Given the description of an element on the screen output the (x, y) to click on. 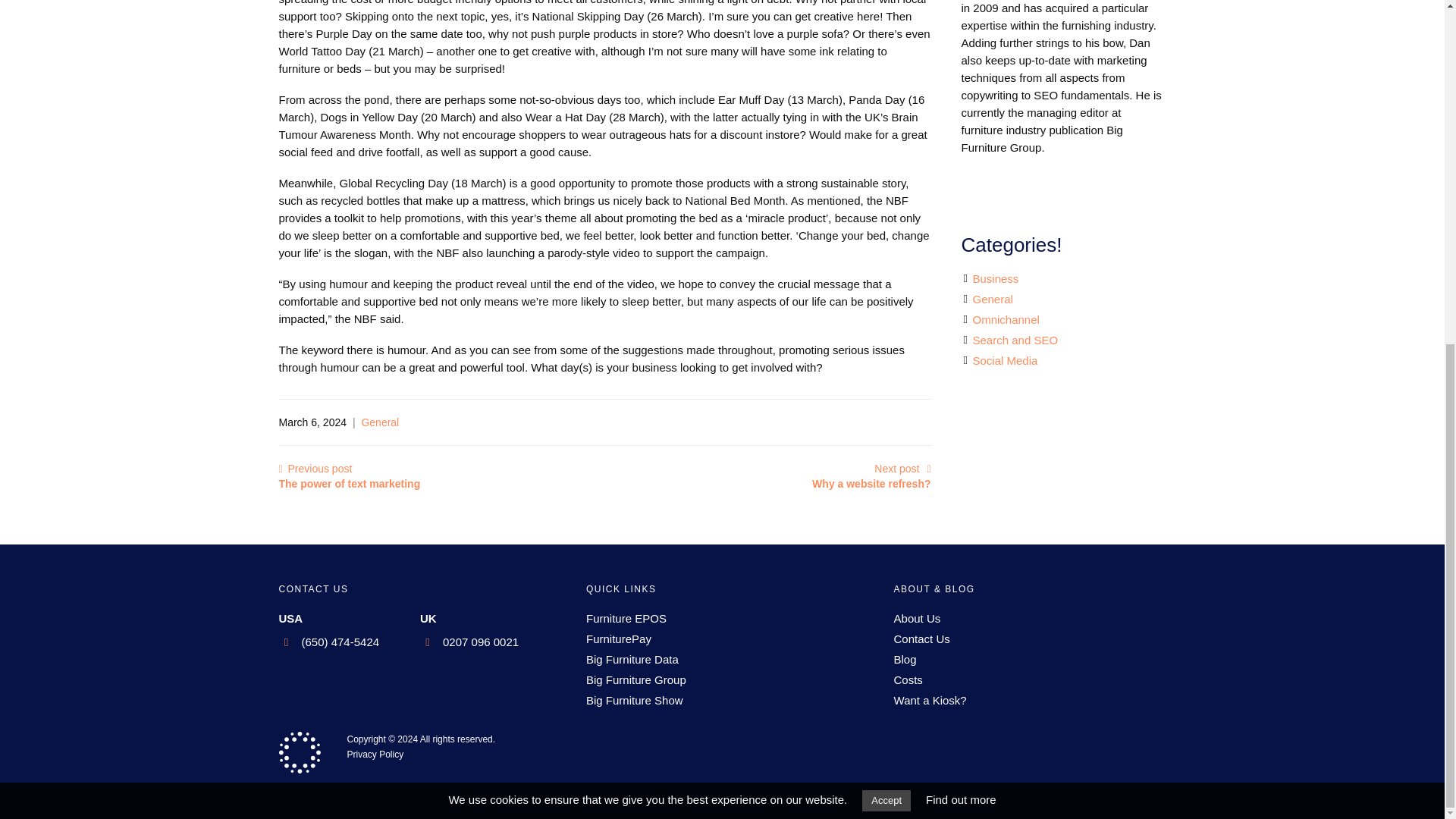
Contact Us (921, 638)
Social Media (349, 475)
Omnichannel (1004, 359)
About Us (1005, 318)
General (916, 617)
Accept (379, 422)
Big Furniture Data (886, 212)
Search and SEO (632, 658)
Big Furniture Show (1015, 338)
Furniture EPOS (634, 699)
Why a website refresh? (626, 617)
Business (871, 475)
Find out more (994, 278)
